Given the description of an element on the screen output the (x, y) to click on. 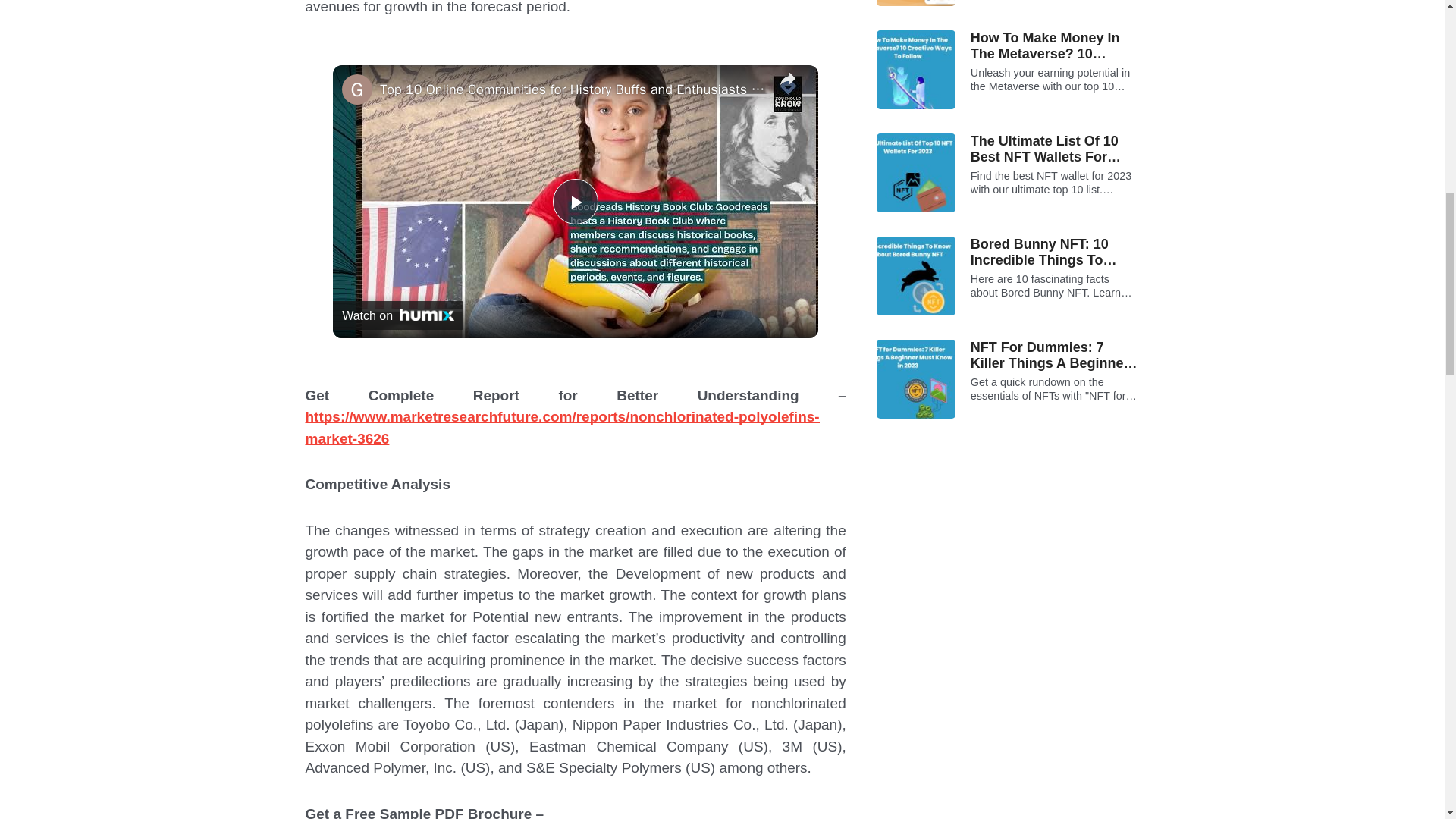
Play Video (575, 201)
Watch on (398, 315)
Play Video (575, 201)
Share (788, 89)
